Given the description of an element on the screen output the (x, y) to click on. 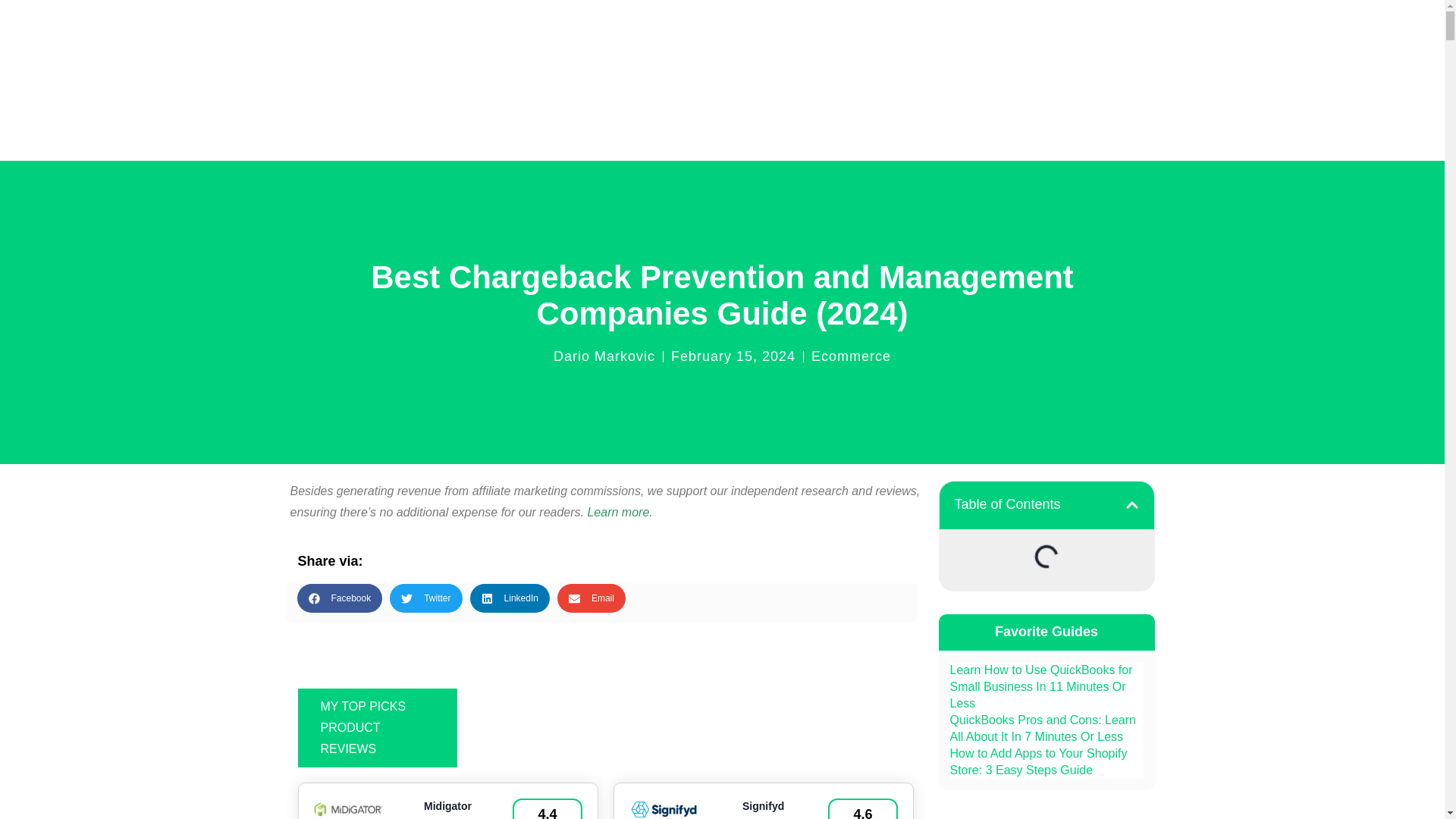
Ecommerce (850, 355)
February 15, 2024 (732, 356)
